Given the description of an element on the screen output the (x, y) to click on. 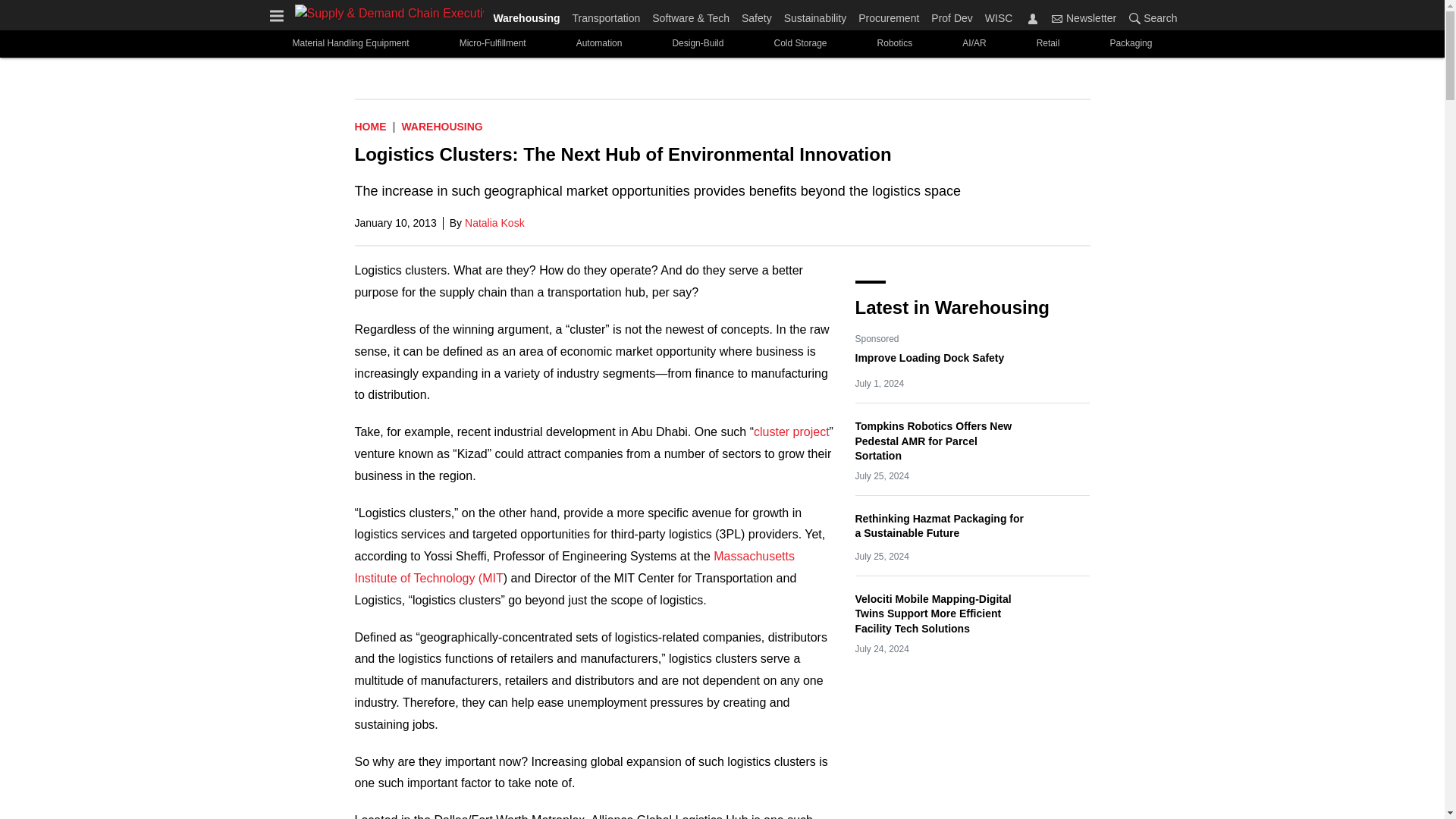
WISC Forum (1012, 15)
Micro-Fulfillment (492, 43)
Home (371, 126)
Prof Dev (951, 15)
Search (1149, 17)
Search (1134, 18)
Newsletter (1056, 18)
Newsletter (1083, 17)
Design-Build (697, 43)
Sign In (1032, 18)
Sustainability (815, 15)
Transportation (606, 15)
Robotics (895, 43)
Automation (599, 43)
Cold Storage (799, 43)
